Given the description of an element on the screen output the (x, y) to click on. 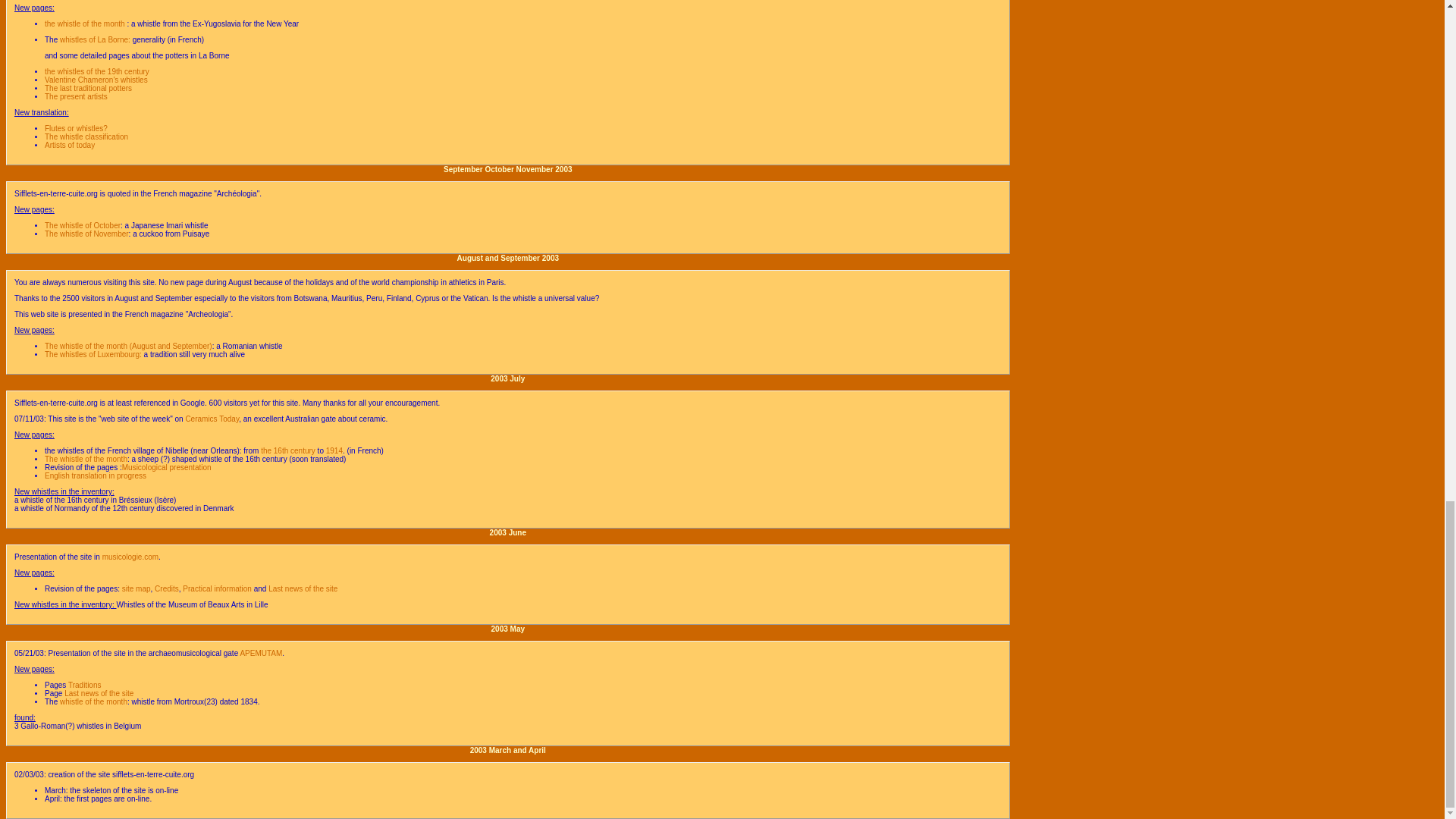
the whistle of the month (85, 23)
whistles of La Borne: (95, 40)
the whistles of the 19th century (97, 71)
The last traditional potters (88, 88)
Artists of today (69, 144)
The whistle classification (86, 136)
The whistle of October (82, 225)
Ceramics Today (211, 418)
The whistle of November (87, 234)
Valentine Chameron's whistles (96, 80)
Flutes or whistles? (76, 128)
The whistles of Luxembourg: (93, 354)
The present artists (76, 96)
